Given the description of an element on the screen output the (x, y) to click on. 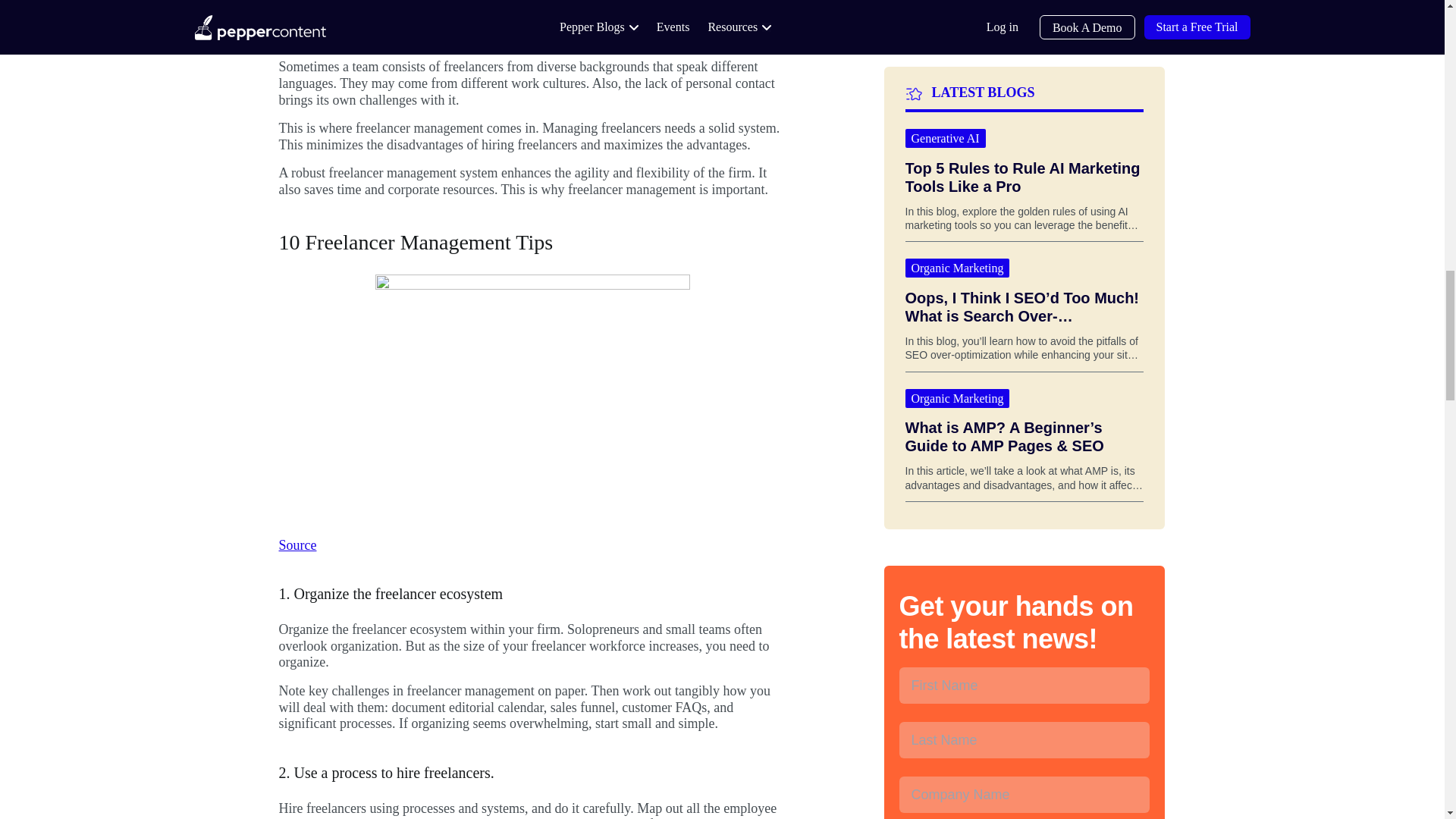
Source (298, 544)
Source (298, 9)
